Given the description of an element on the screen output the (x, y) to click on. 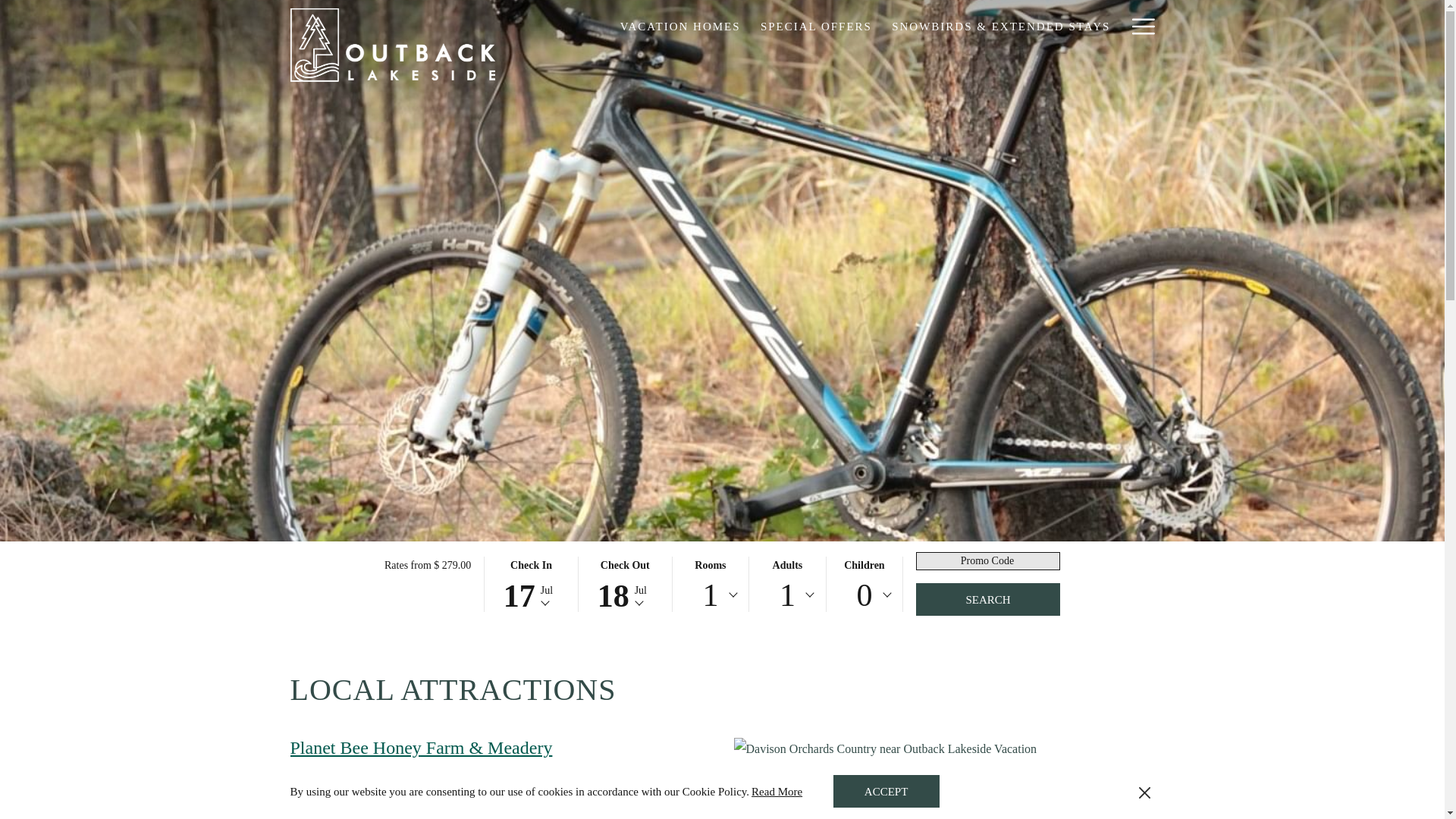
Read More (777, 791)
 1  (787, 594)
Back to the homepage (392, 44)
VACATION HOMES (679, 26)
Menu (1142, 26)
SPECIAL OFFERS (987, 599)
 1  (816, 26)
ACCEPT (710, 594)
 0  (885, 790)
